Given the description of an element on the screen output the (x, y) to click on. 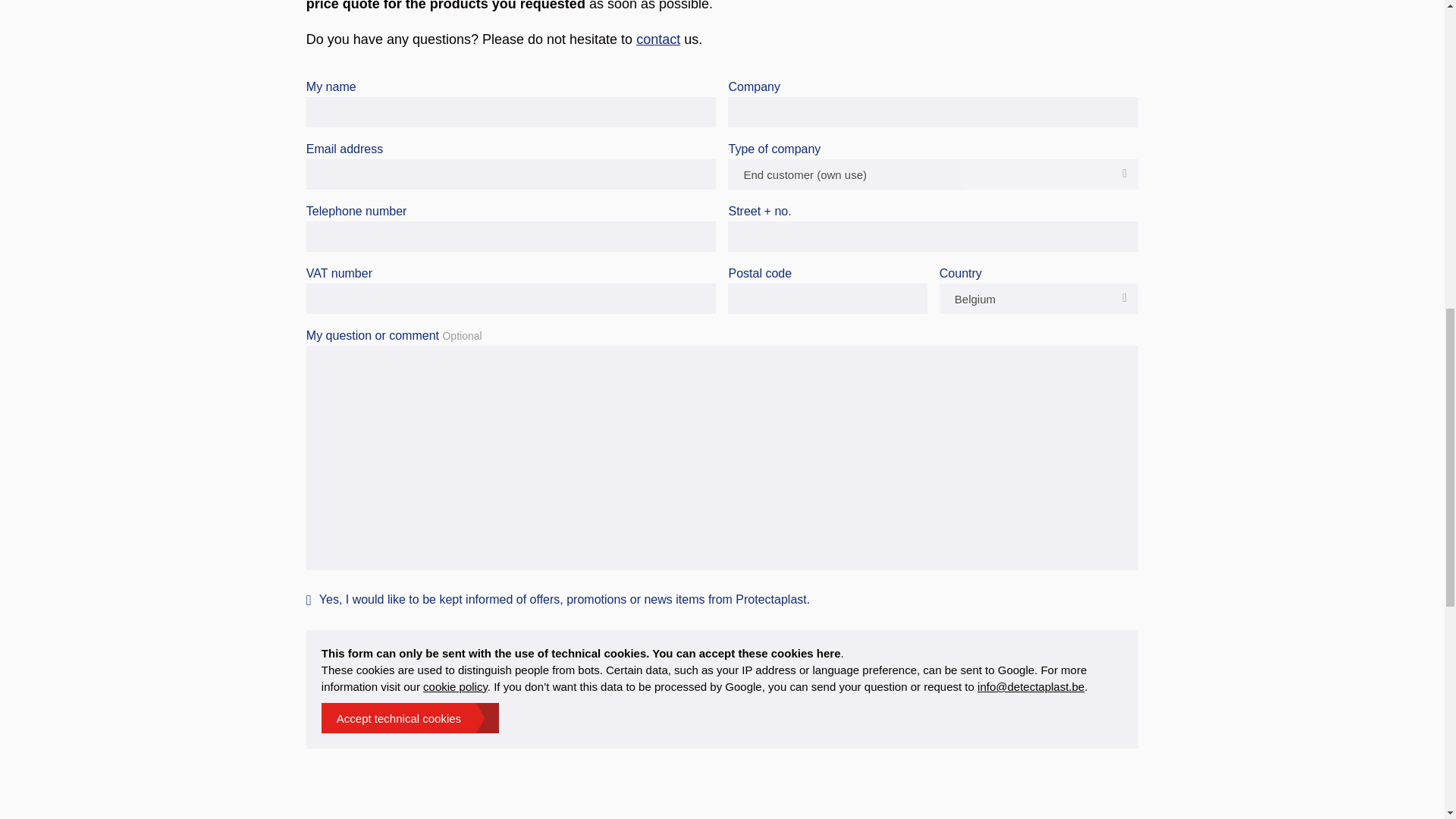
Accept technical cookies (410, 717)
cookie policy (455, 686)
cookie policy (455, 686)
accept these cookies here (769, 653)
contact (657, 38)
